Given the description of an element on the screen output the (x, y) to click on. 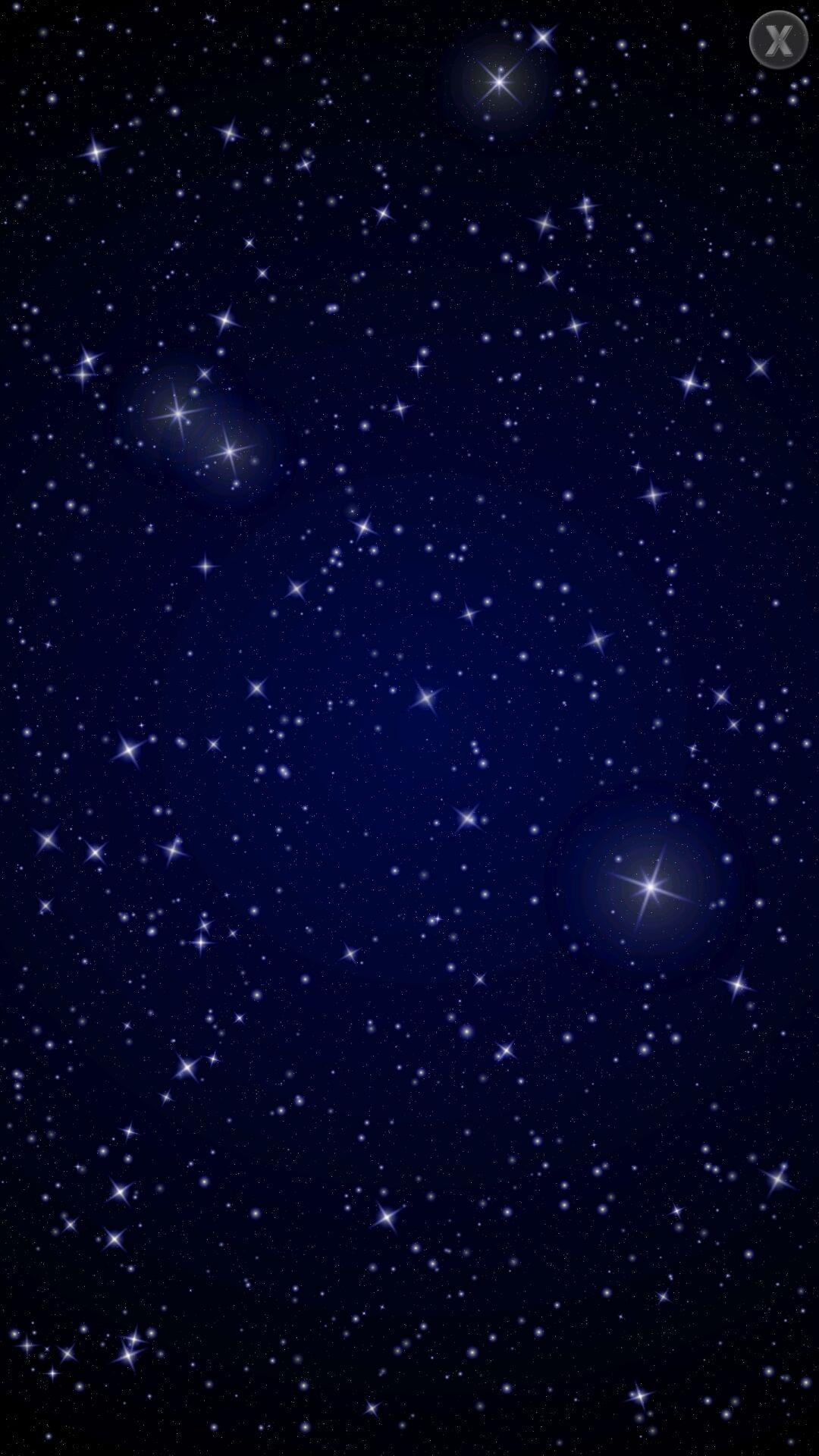
close link (778, 39)
